Given the description of an element on the screen output the (x, y) to click on. 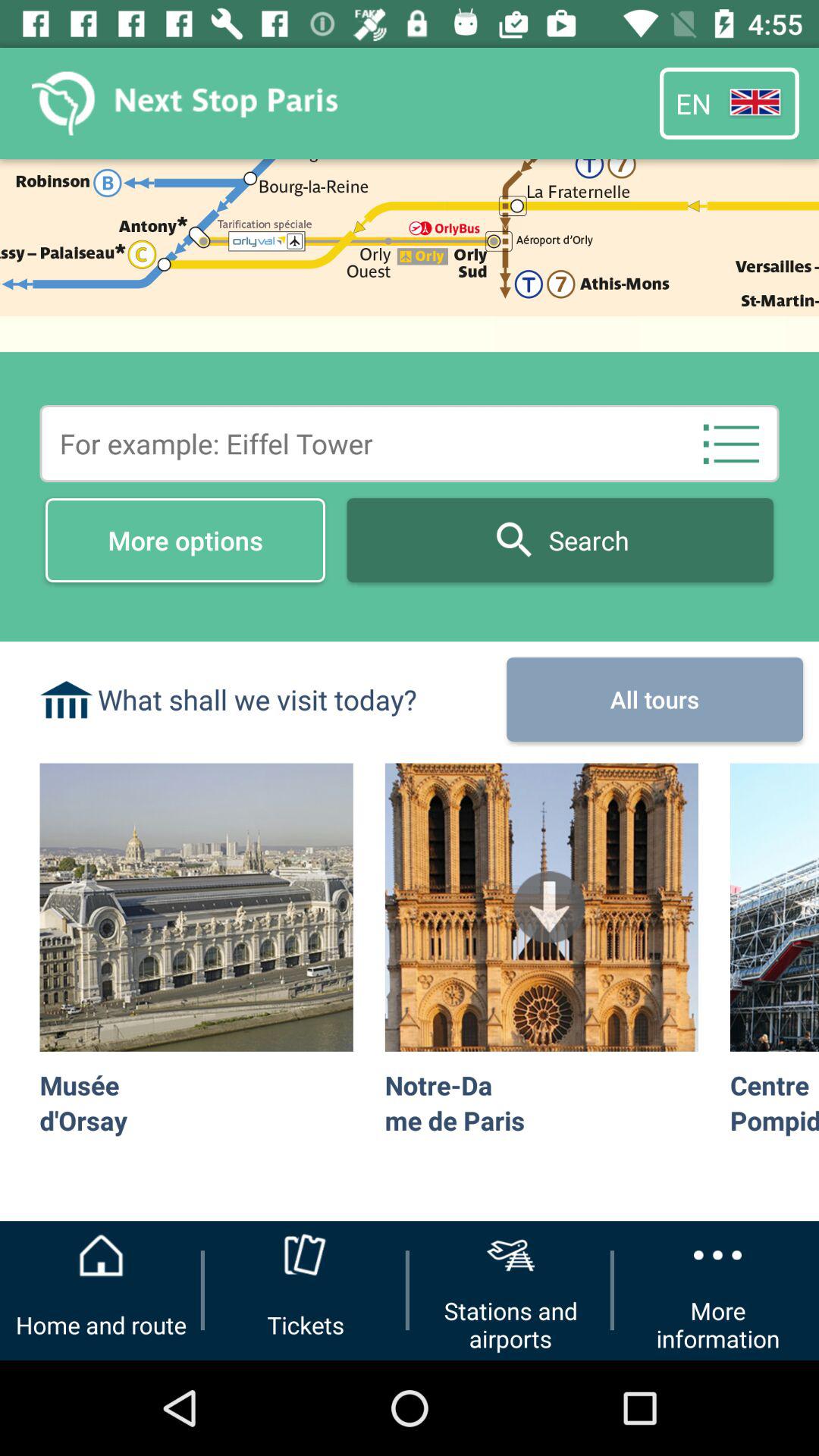
launch the more options item (185, 540)
